Given the description of an element on the screen output the (x, y) to click on. 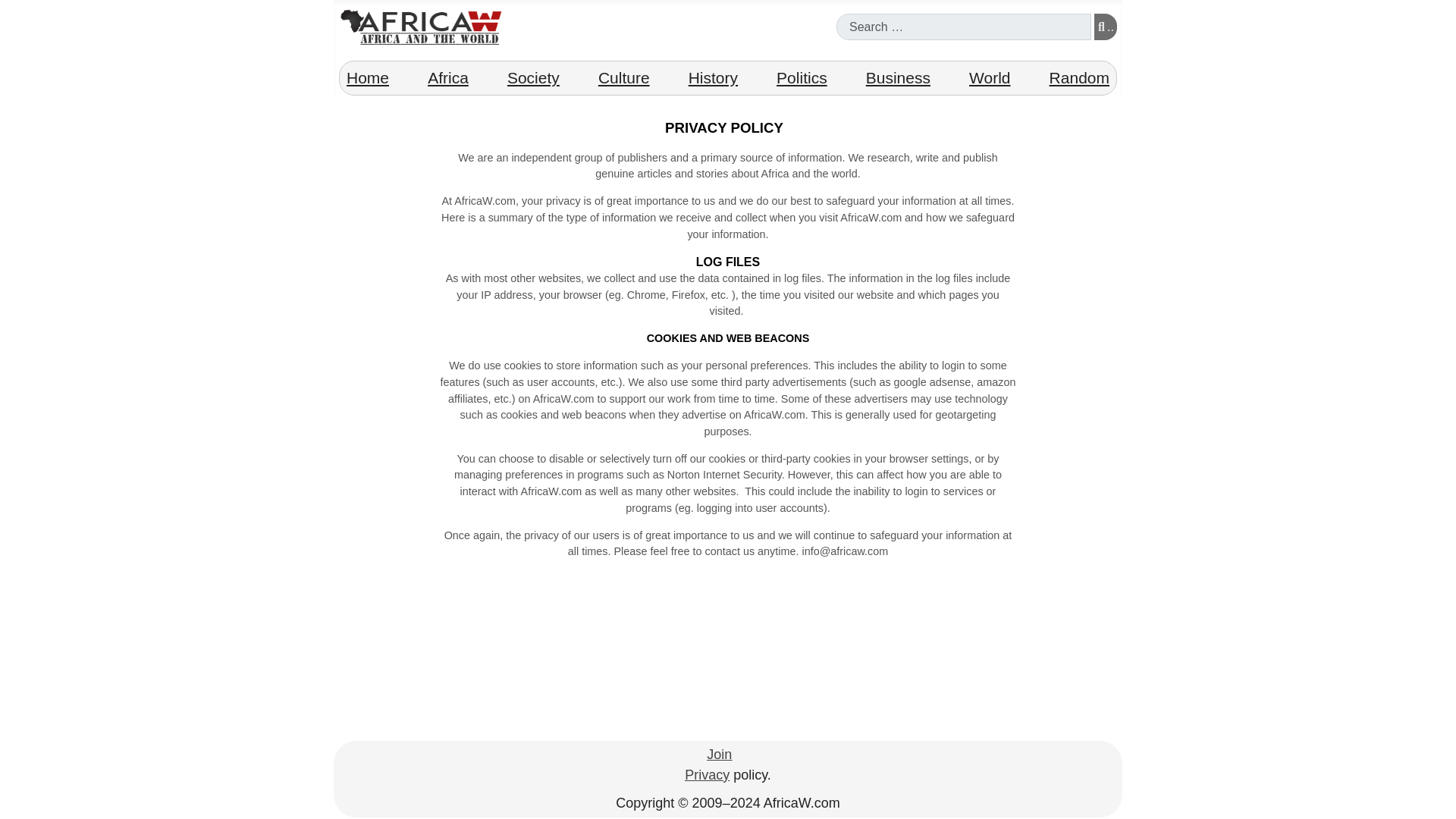
Africa (448, 77)
Society (533, 77)
Home (367, 77)
Culture (623, 77)
Privacy (706, 774)
History (712, 77)
Join (719, 754)
